Given the description of an element on the screen output the (x, y) to click on. 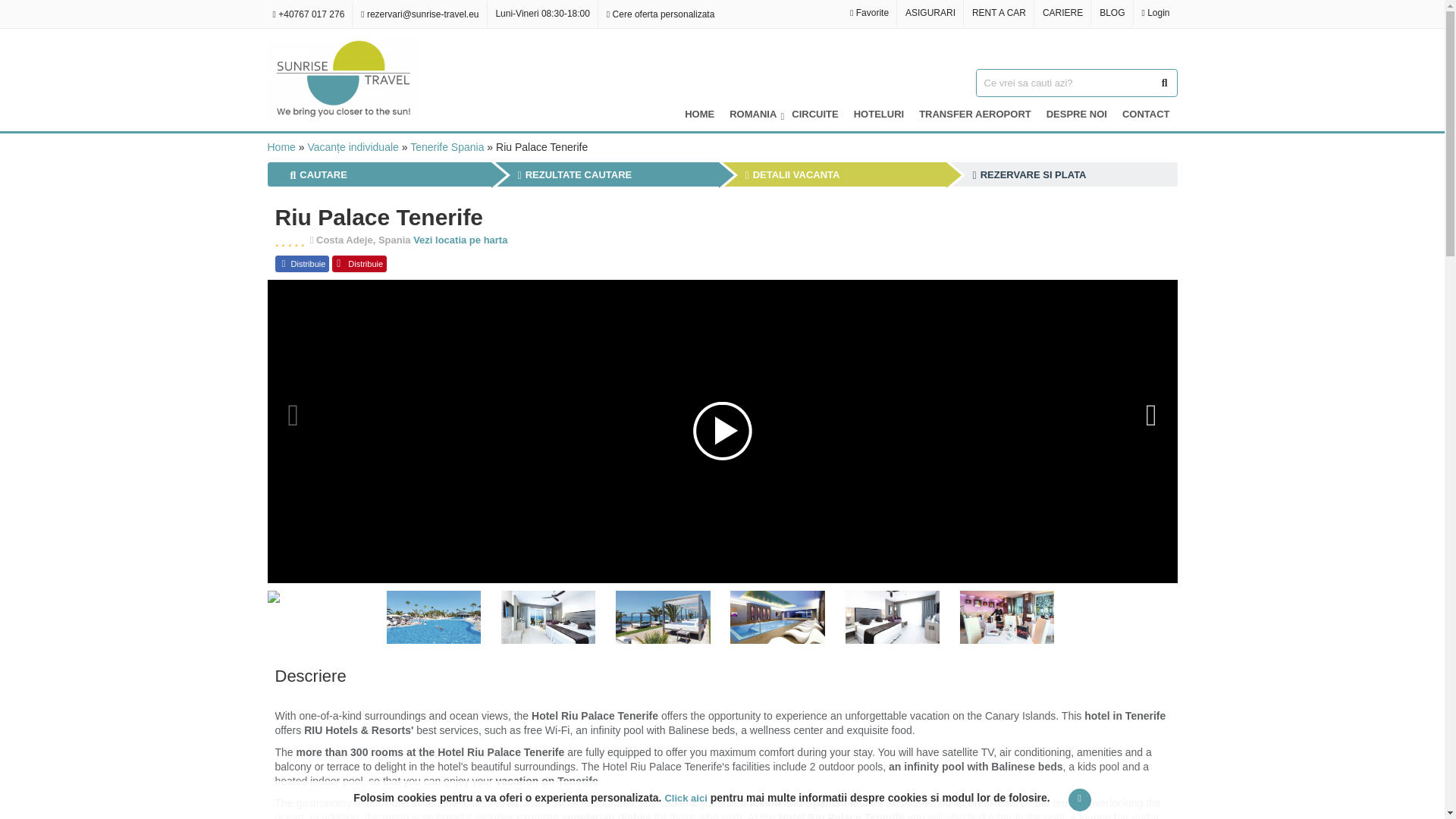
CARIERE (1062, 12)
REZERVARE SI PLATA (1029, 174)
Vezi locatia pe harta (459, 239)
Luni-Vineri 08:30-18:00 (542, 13)
ROMANIA (753, 113)
ASIGURARI (930, 12)
Login (1155, 12)
Tenerife Spania (446, 146)
HOME (699, 113)
Click aici (684, 797)
